Given the description of an element on the screen output the (x, y) to click on. 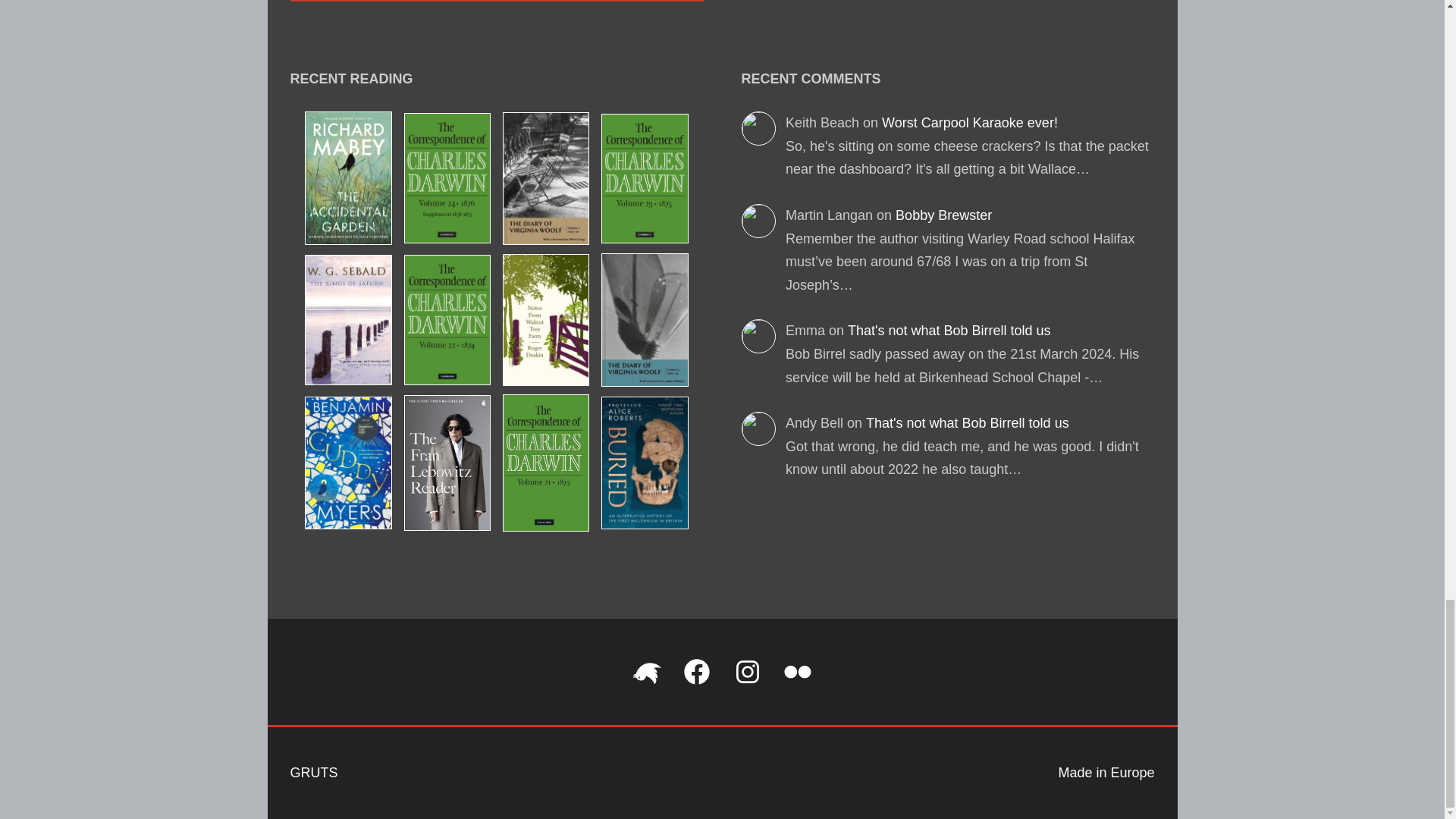
That's not what Bob Birrell told us (949, 330)
That's not what Bob Birrell told us (967, 422)
Worst Carpool Karaoke ever! (970, 122)
Bobby Brewster (943, 215)
